Given the description of an element on the screen output the (x, y) to click on. 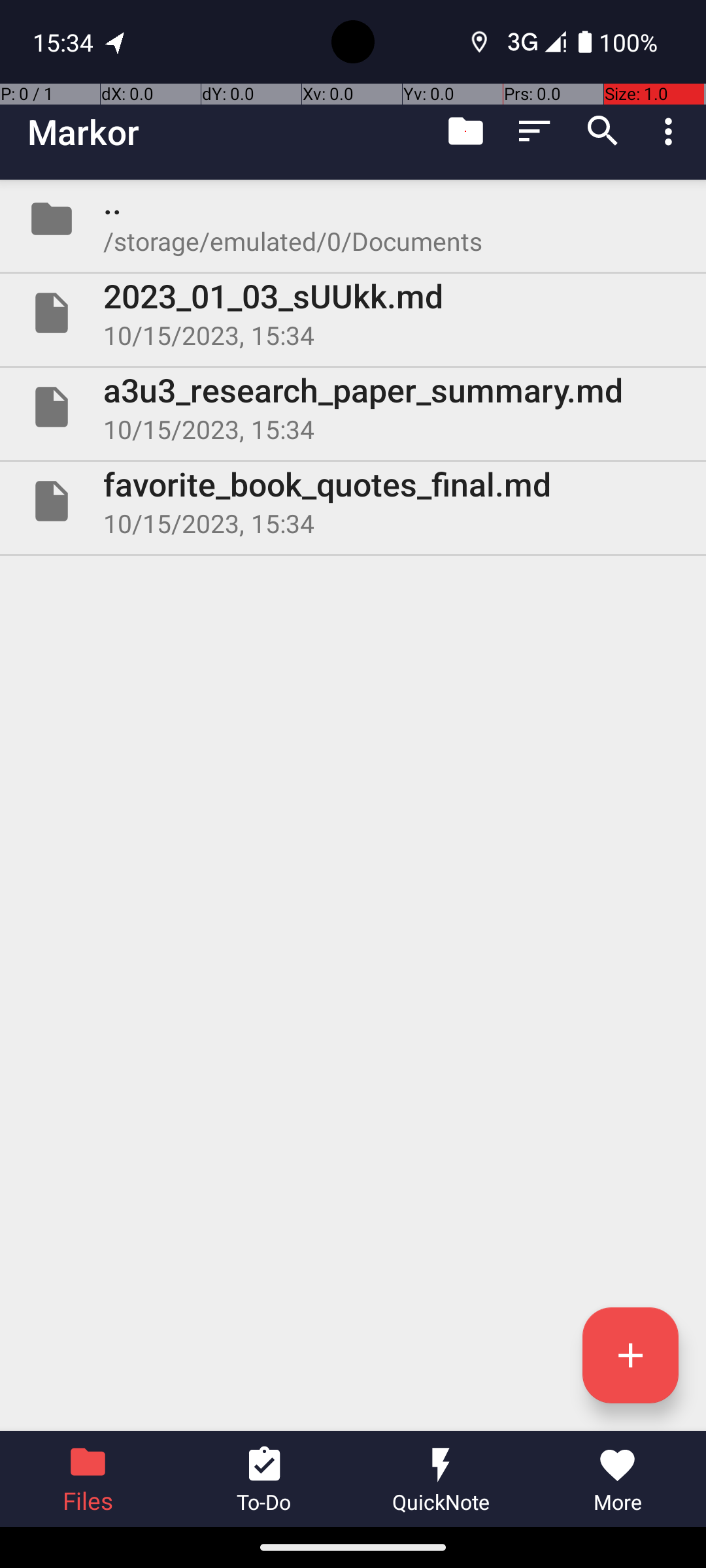
File 2023_01_03_sUUkk.md  Element type: android.widget.LinearLayout (353, 312)
File a3u3_research_paper_summary.md  Element type: android.widget.LinearLayout (353, 406)
File favorite_book_quotes_final.md  Element type: android.widget.LinearLayout (353, 500)
